Given the description of an element on the screen output the (x, y) to click on. 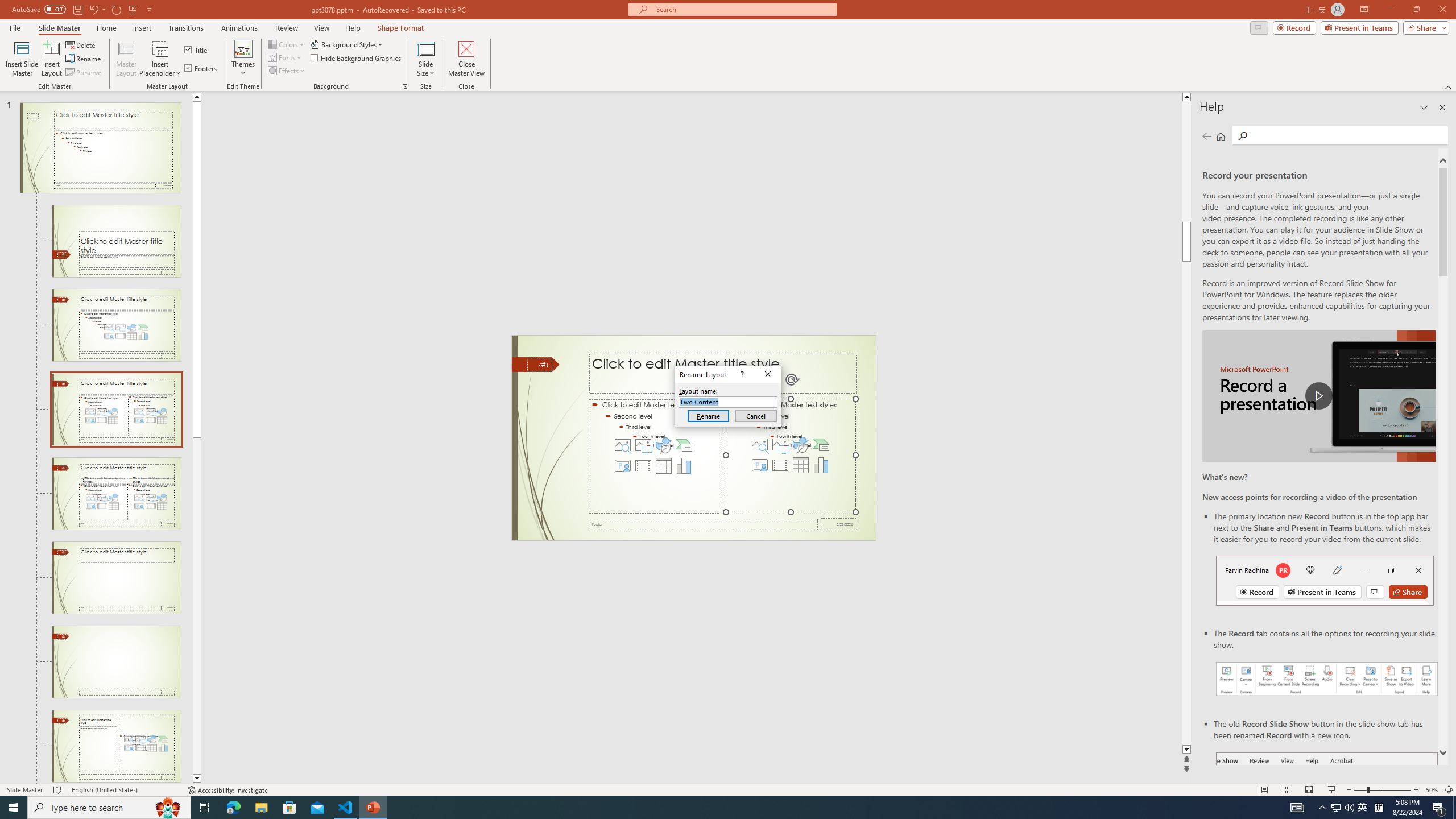
Slide Blank Layout: used by no slides (116, 746)
Insert a SmartArt Graphic (820, 444)
Insert Table (800, 465)
Footers (201, 67)
Rename (708, 415)
